Given the description of an element on the screen output the (x, y) to click on. 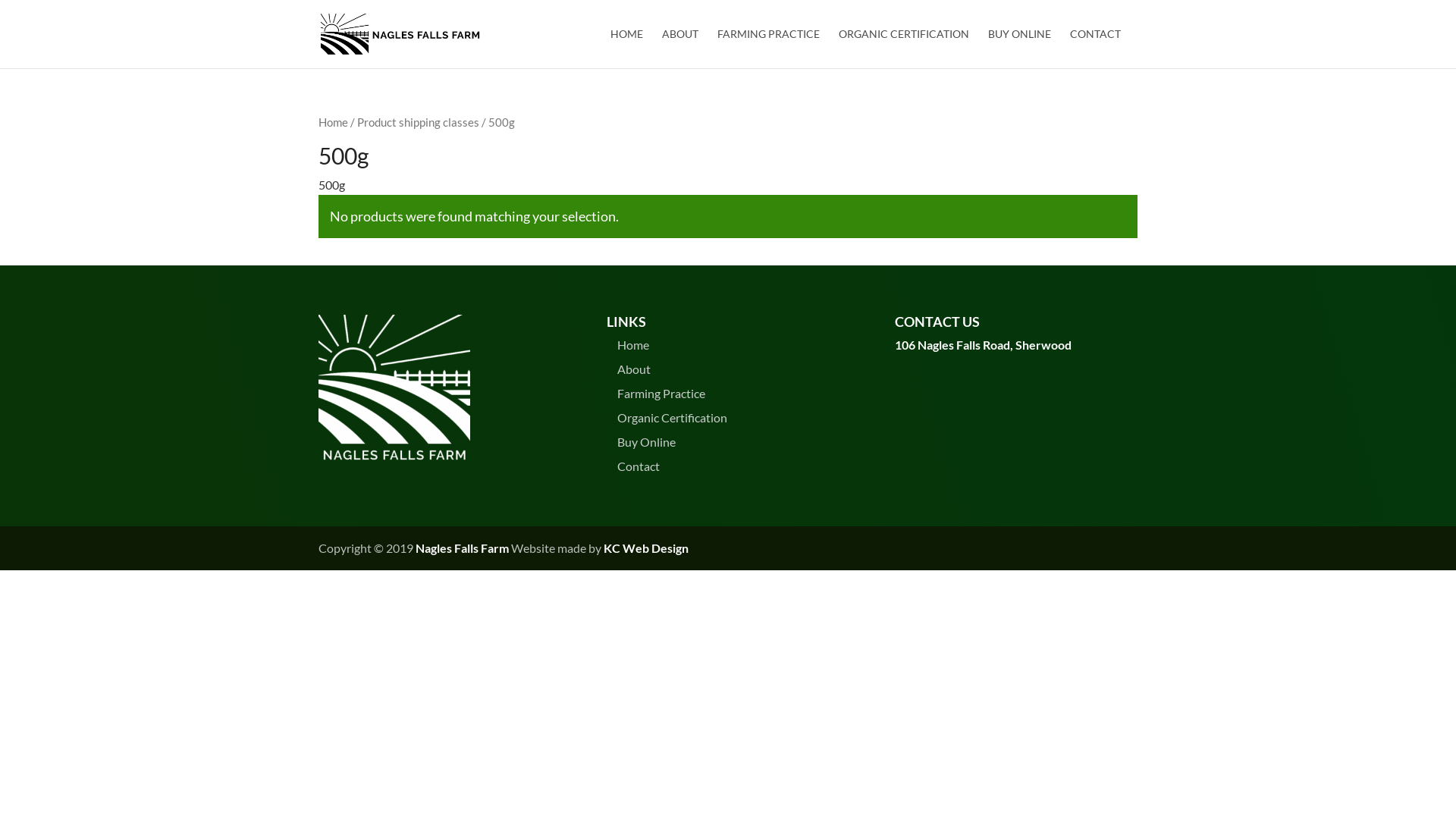
KC Web Design Element type: text (645, 547)
About Element type: text (633, 368)
ORGANIC CERTIFICATION Element type: text (903, 48)
HOME Element type: text (626, 48)
BUY ONLINE Element type: text (1019, 48)
Organic Certification Element type: text (672, 417)
ABOUT Element type: text (680, 48)
Home Element type: text (633, 344)
Buy Online Element type: text (646, 441)
CONTACT Element type: text (1095, 48)
Farming Practice Element type: text (661, 392)
Contact Element type: text (638, 465)
Home Element type: text (333, 121)
FARMING PRACTICE Element type: text (768, 48)
